Given the description of an element on the screen output the (x, y) to click on. 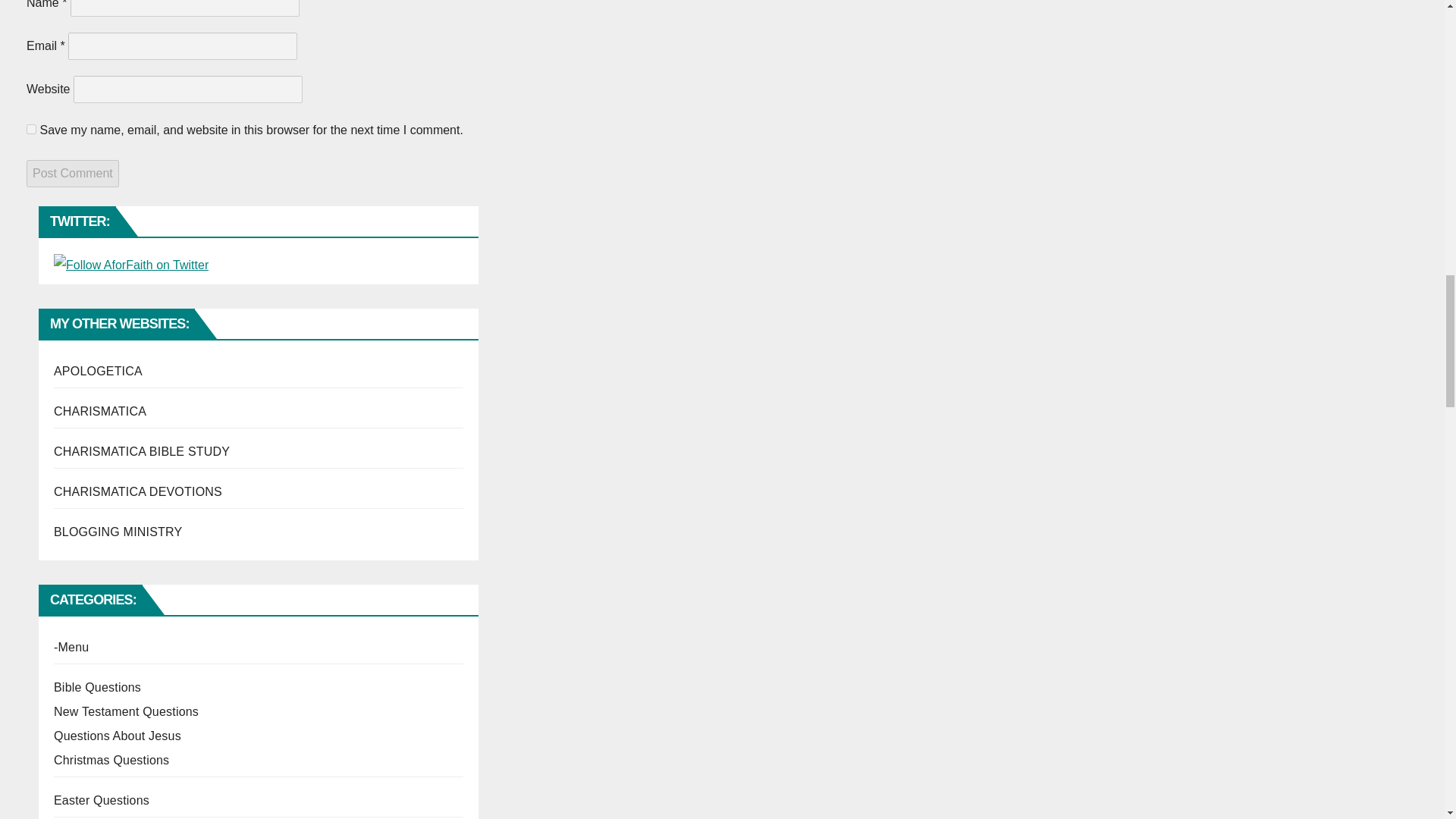
Post Comment (72, 173)
yes (31, 129)
